Given the description of an element on the screen output the (x, y) to click on. 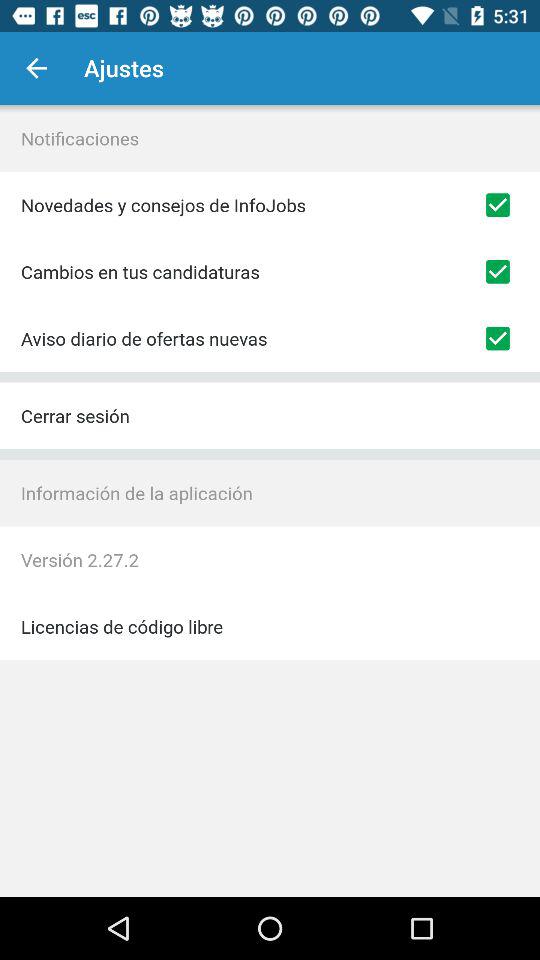
select the item next to ajustes item (36, 68)
